Given the description of an element on the screen output the (x, y) to click on. 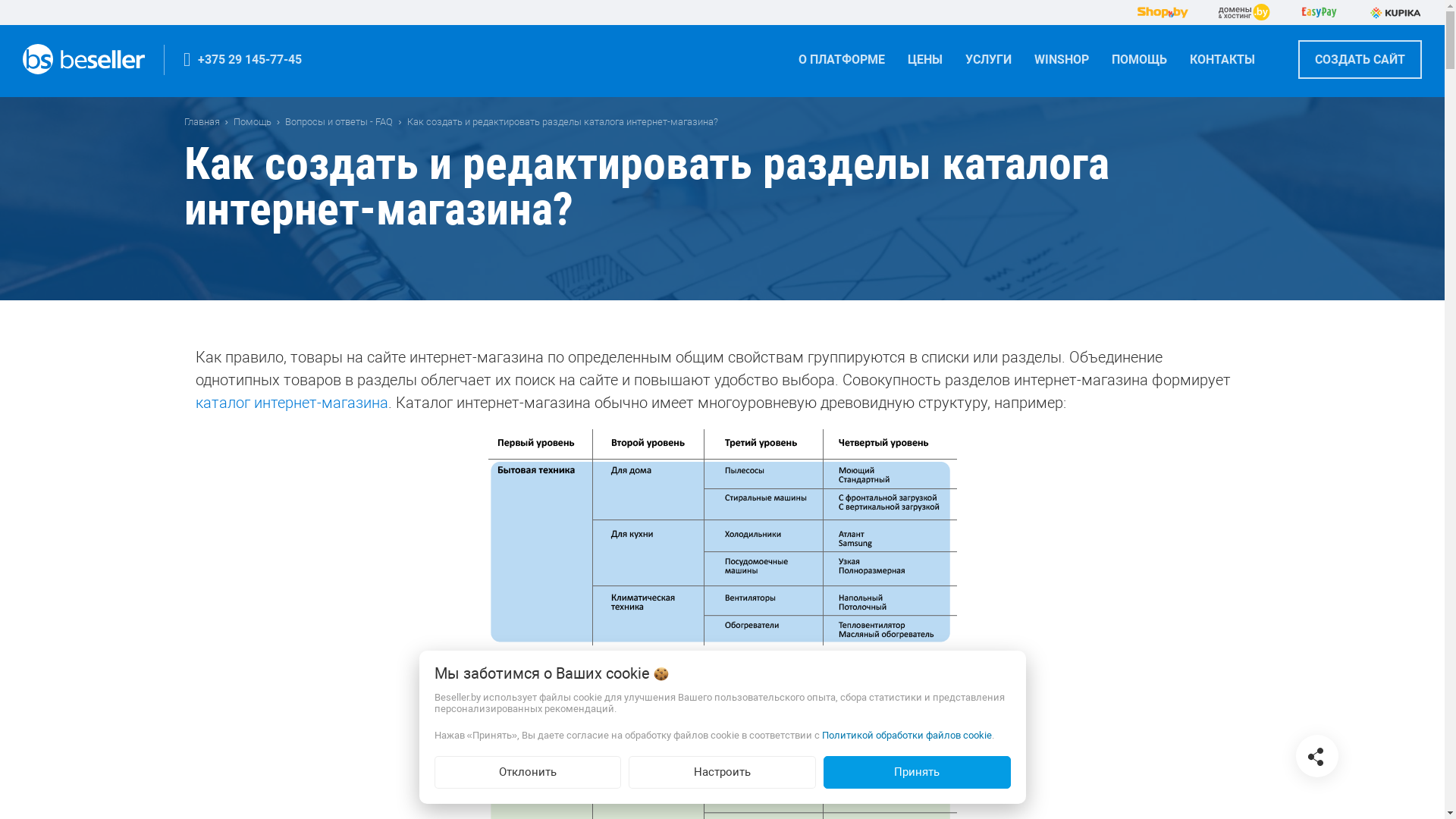
WINSHOP Element type: text (1061, 64)
+375 29 145-77-45 Element type: text (242, 59)
